Given the description of an element on the screen output the (x, y) to click on. 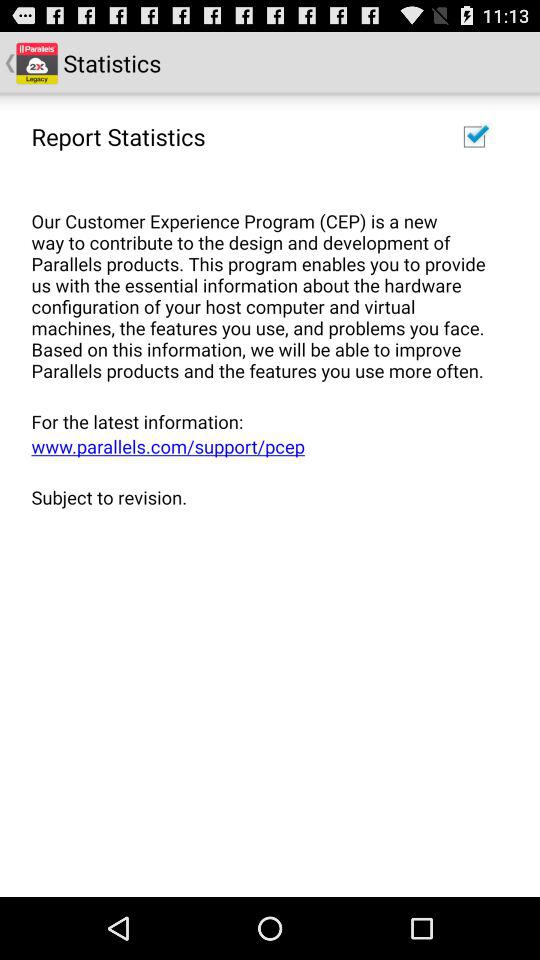
open our customer experience item (263, 284)
